Given the description of an element on the screen output the (x, y) to click on. 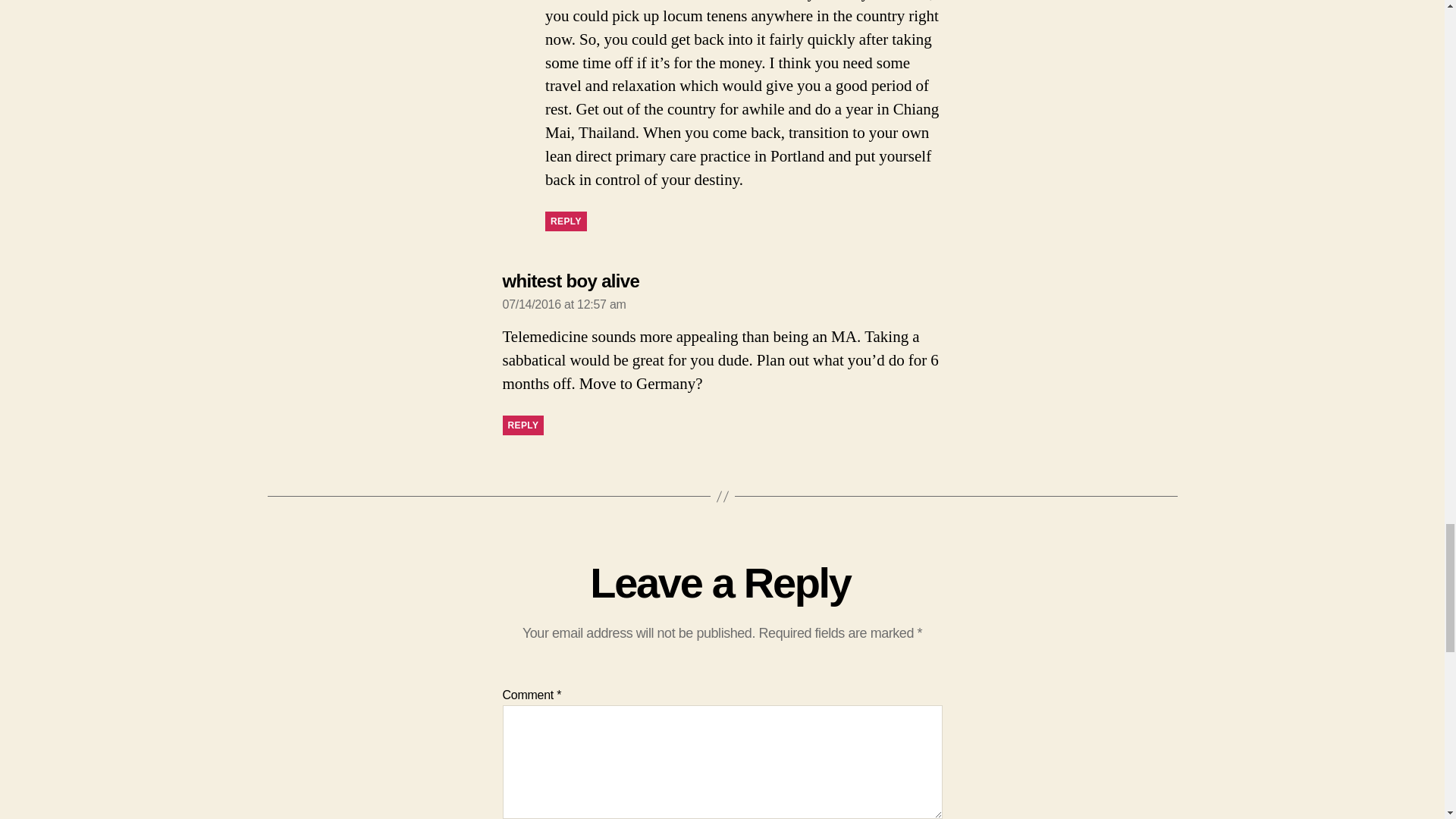
REPLY (565, 220)
REPLY (522, 424)
REPLY (565, 220)
